Given the description of an element on the screen output the (x, y) to click on. 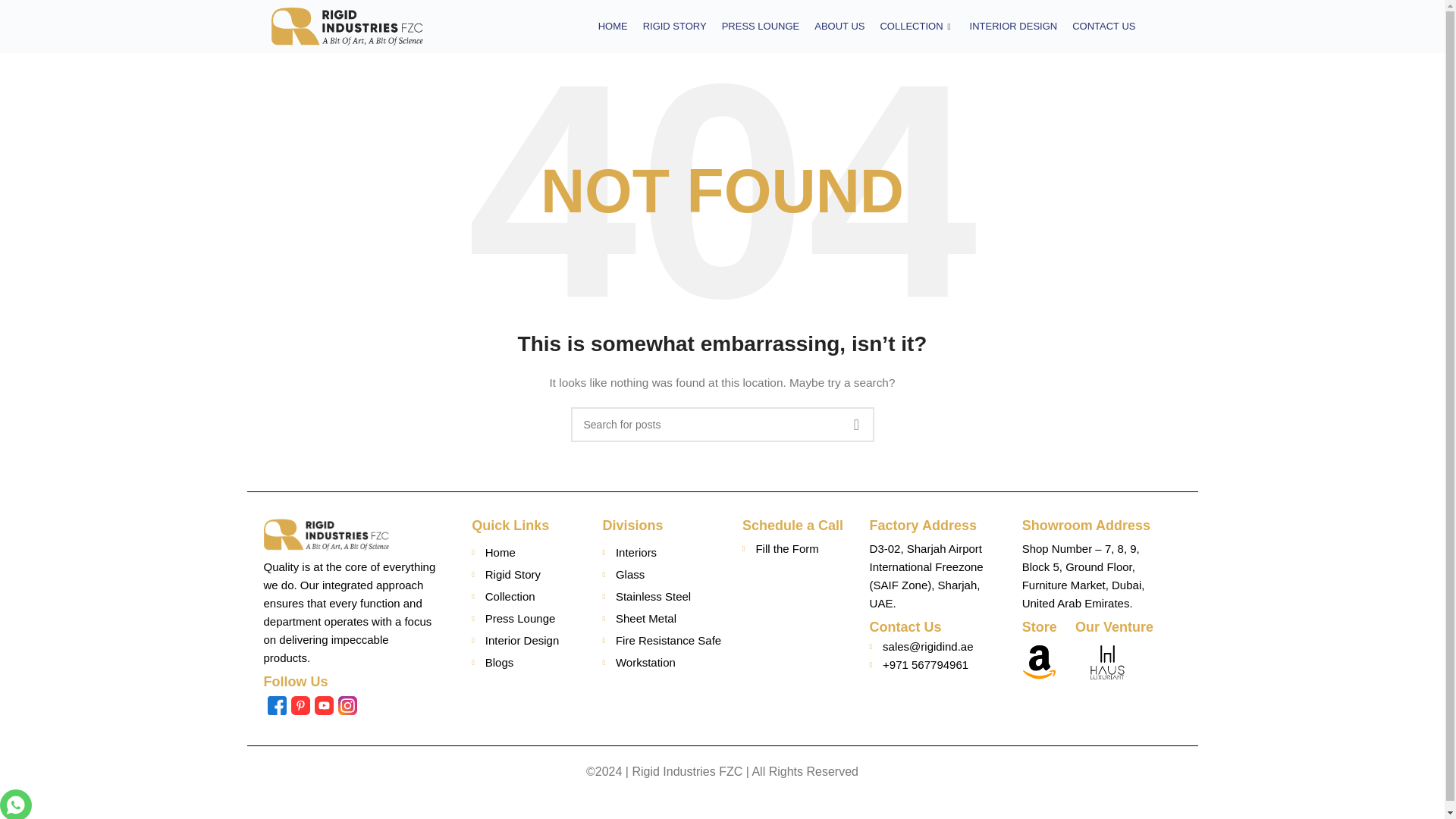
Search for posts (721, 424)
INTERIOR DESIGN (1013, 26)
HOME (612, 26)
RIGID STORY (674, 26)
CONTACT US (1103, 26)
ABOUT US (839, 26)
COLLECTION (916, 26)
PRESS LOUNGE (761, 26)
